Given the description of an element on the screen output the (x, y) to click on. 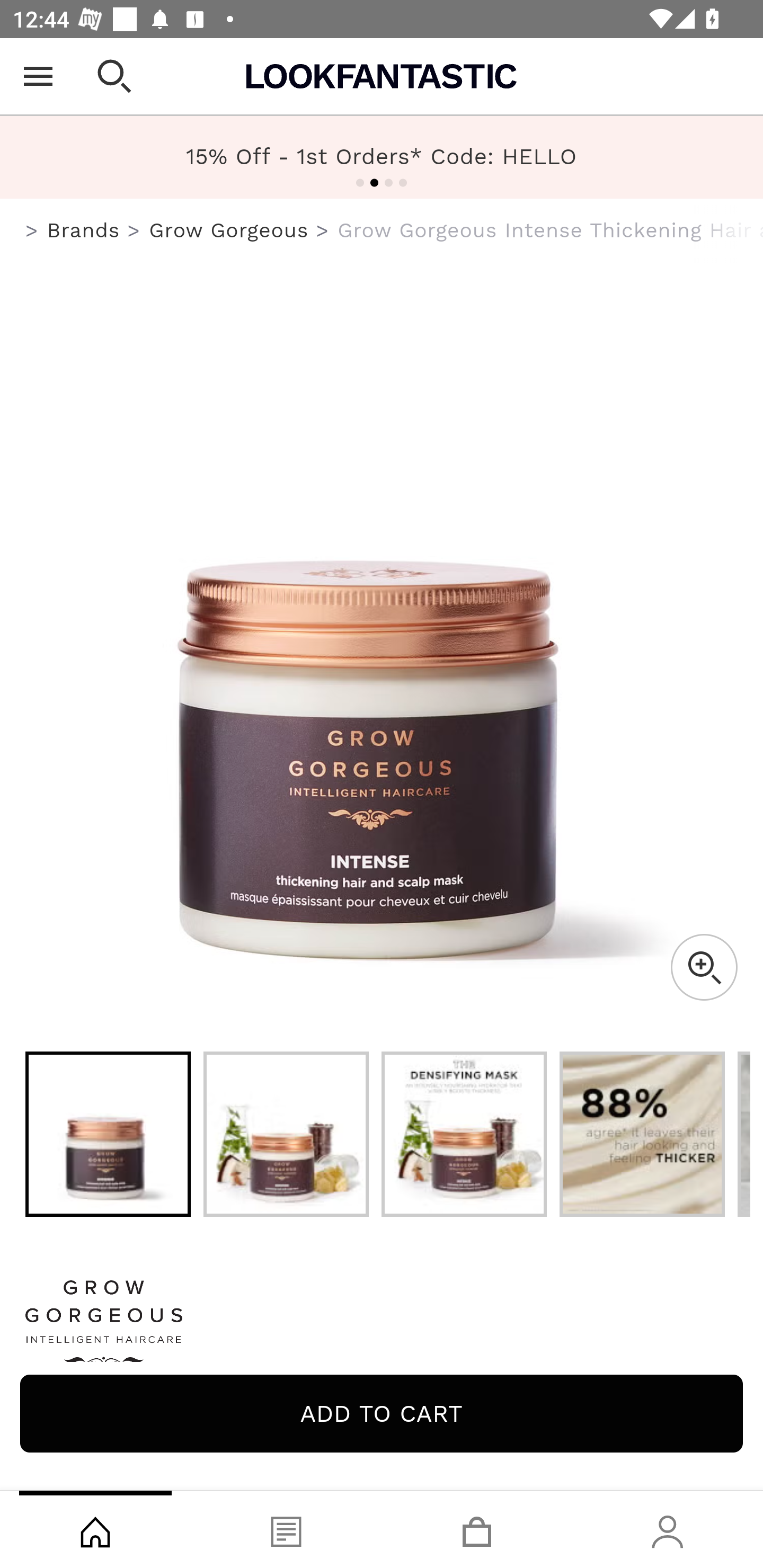
Open Menu (38, 75)
Open search (114, 75)
Lookfantastic USA (381, 75)
FREE US Shipping Over $40 (381, 157)
us.lookfantastic (32, 230)
Brands (82, 230)
Grow Gorgeous (228, 230)
Zoom (703, 966)
Grow Gorgeous (381, 1327)
Add to cart (381, 1413)
Shop, tab, 1 of 4 (95, 1529)
Blog, tab, 2 of 4 (285, 1529)
Basket, tab, 3 of 4 (476, 1529)
Account, tab, 4 of 4 (667, 1529)
